Given the description of an element on the screen output the (x, y) to click on. 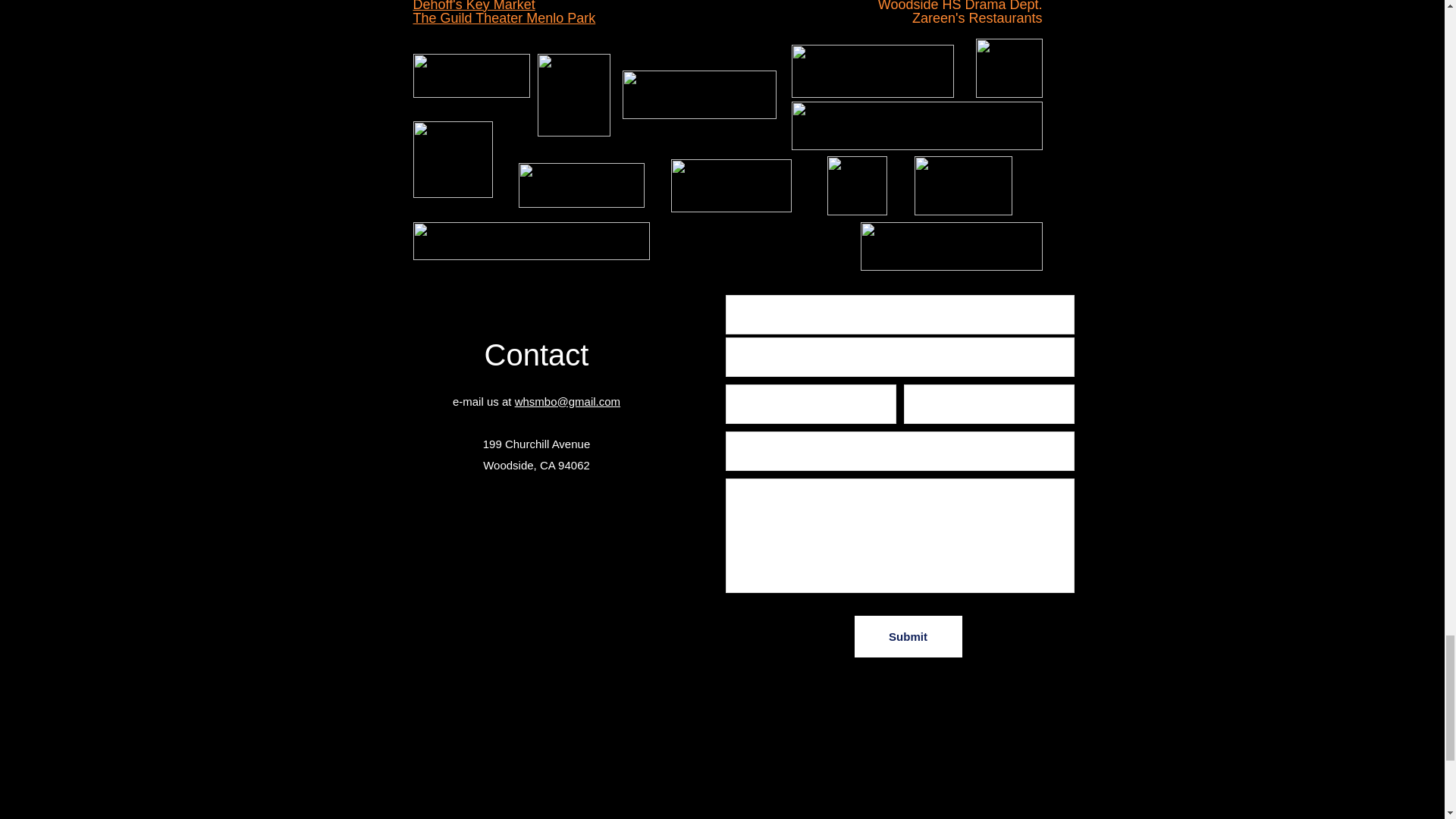
RobertsMarket.jpg (729, 185)
pvhardware.jpg (917, 125)
guildtheater.jpg (1008, 67)
Bianchinis.jpg (452, 159)
Dehoff's Key Market (473, 6)
chipotle.jpg (856, 185)
leftbank.jpg (698, 93)
canyon inn.jpg (962, 185)
Dehoffs KeyMarket.jpg (530, 240)
The Guild Theater Menlo Park (503, 17)
